Given the description of an element on the screen output the (x, y) to click on. 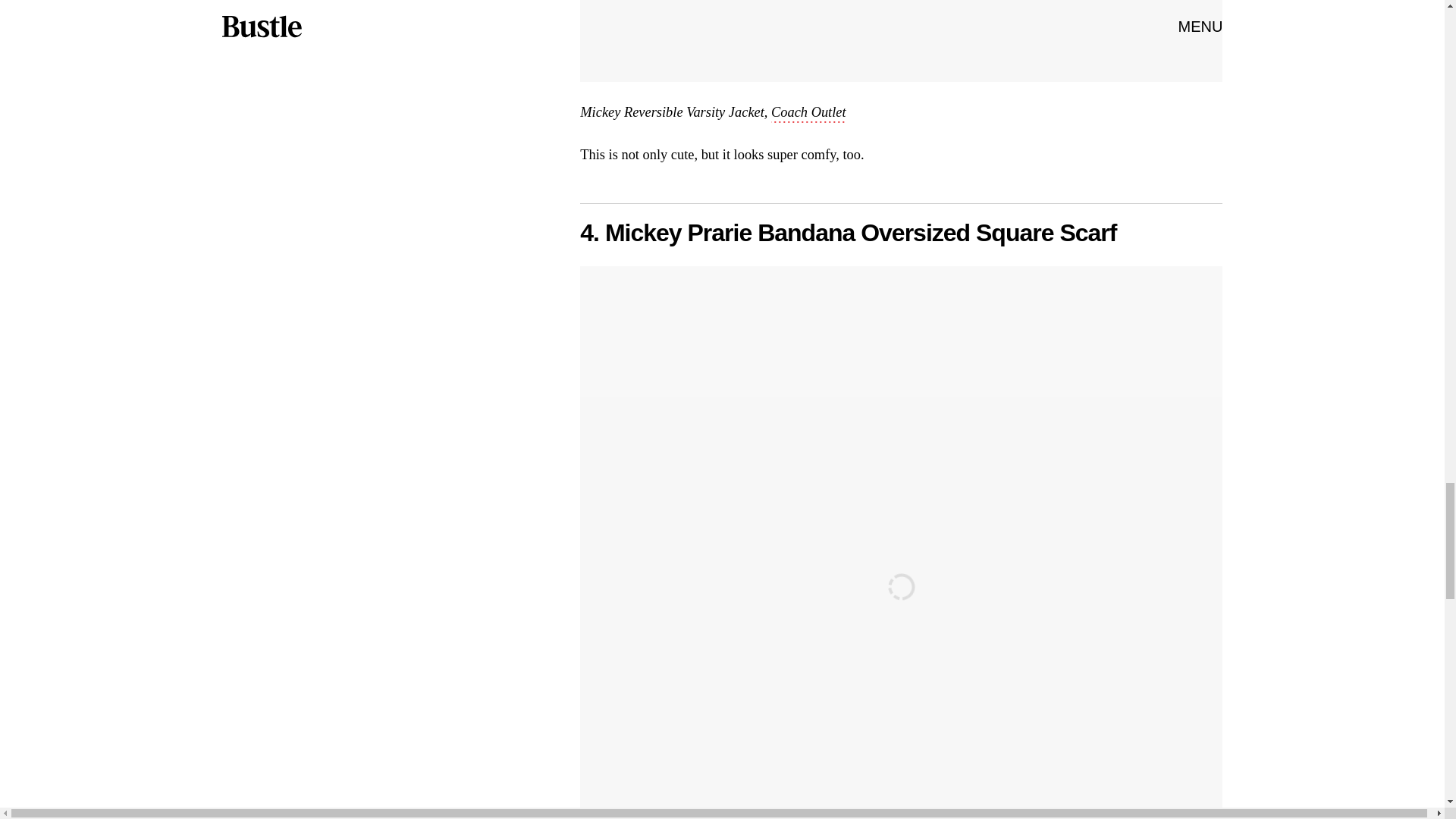
Coach Outlet (808, 113)
